Given the description of an element on the screen output the (x, y) to click on. 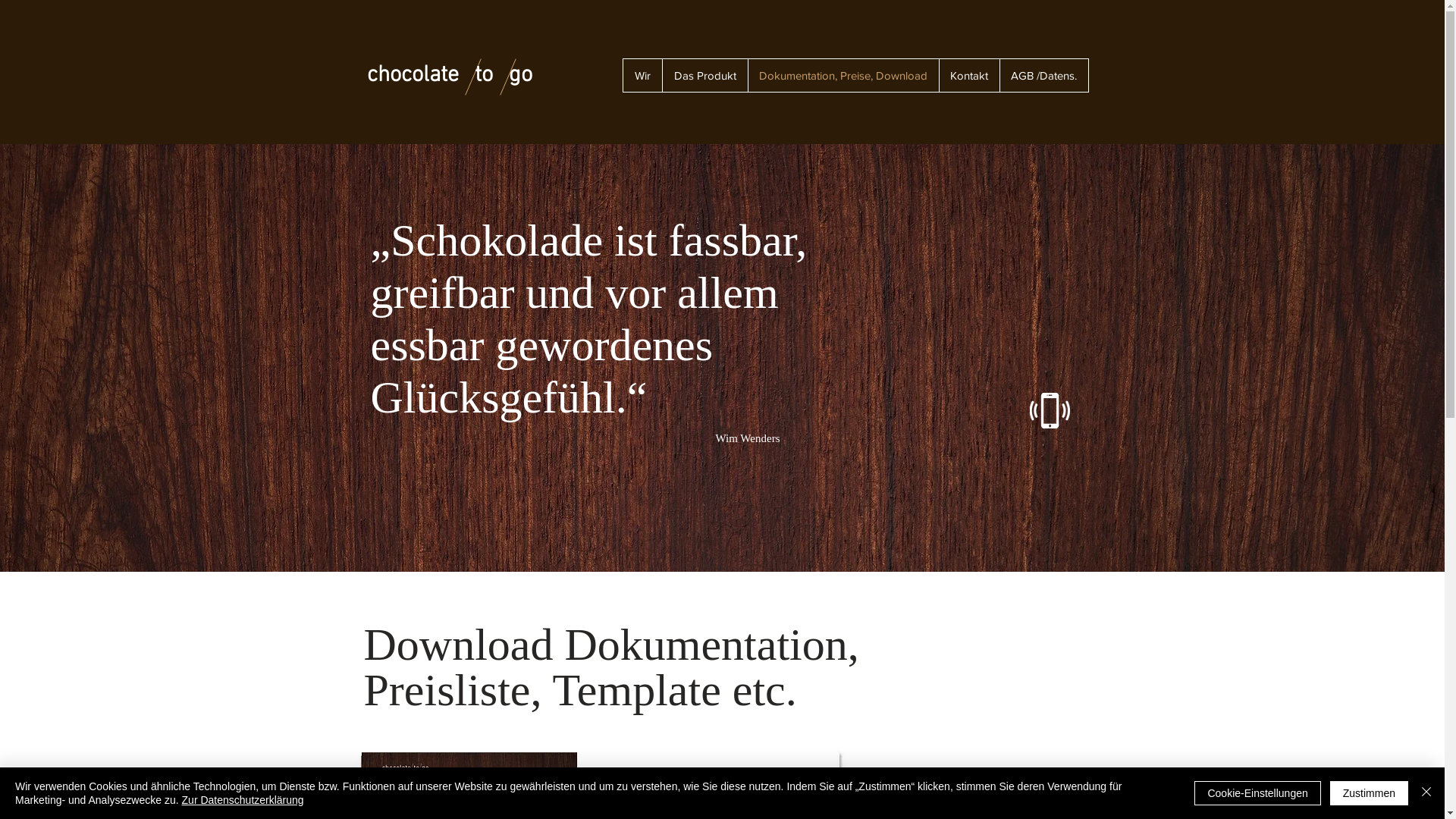
AGB /Datens. Element type: text (1043, 75)
Zustimmen Element type: text (1369, 793)
Wir Element type: text (642, 75)
Dokumentation, Preise, Download Element type: text (842, 75)
Das Produkt Element type: text (703, 75)
Cookie-Einstellungen Element type: text (1257, 793)
Kontakt Element type: text (968, 75)
